Given the description of an element on the screen output the (x, y) to click on. 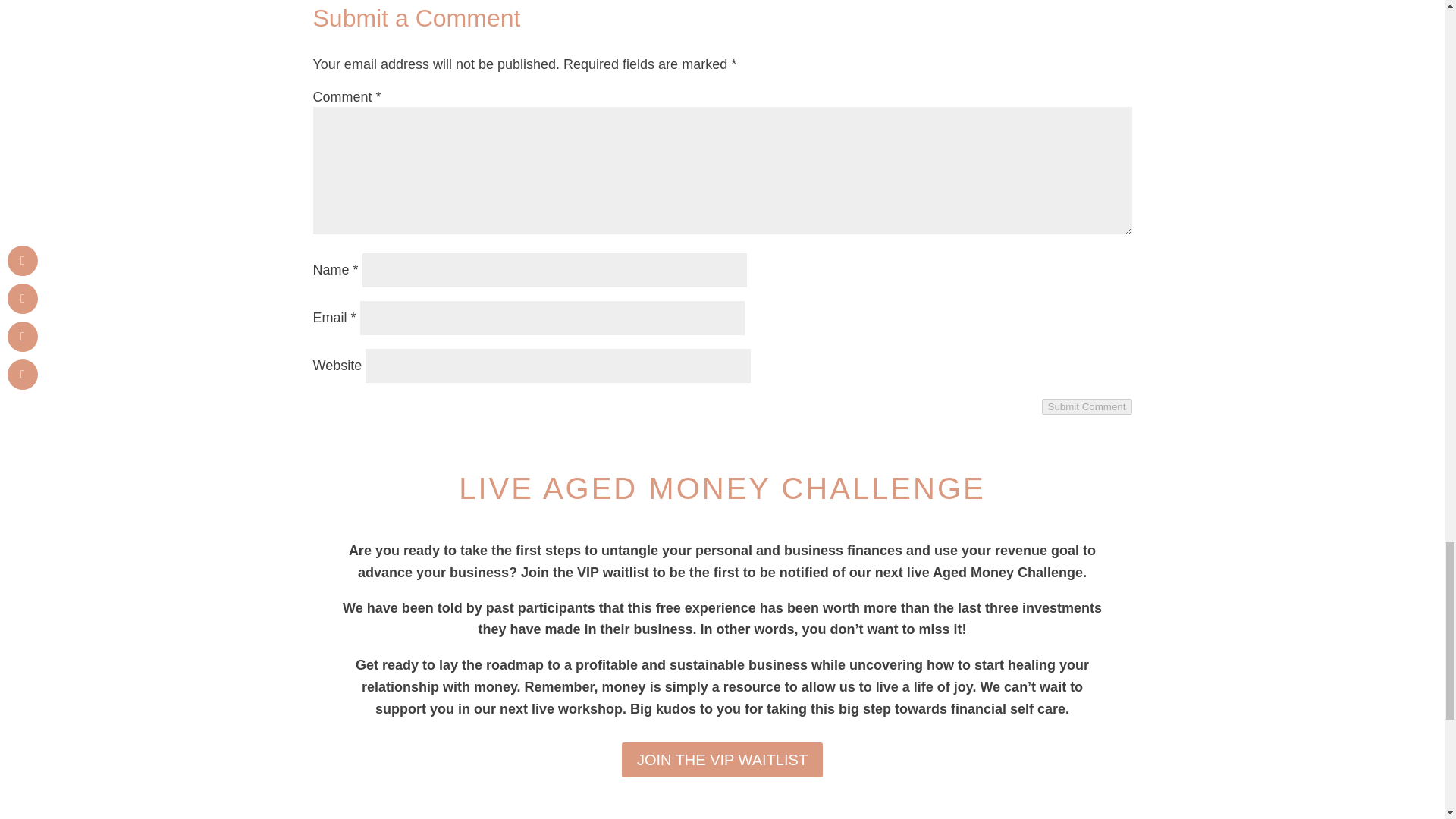
Submit Comment (1087, 406)
JOIN THE VIP WAITLIST (721, 759)
